Given the description of an element on the screen output the (x, y) to click on. 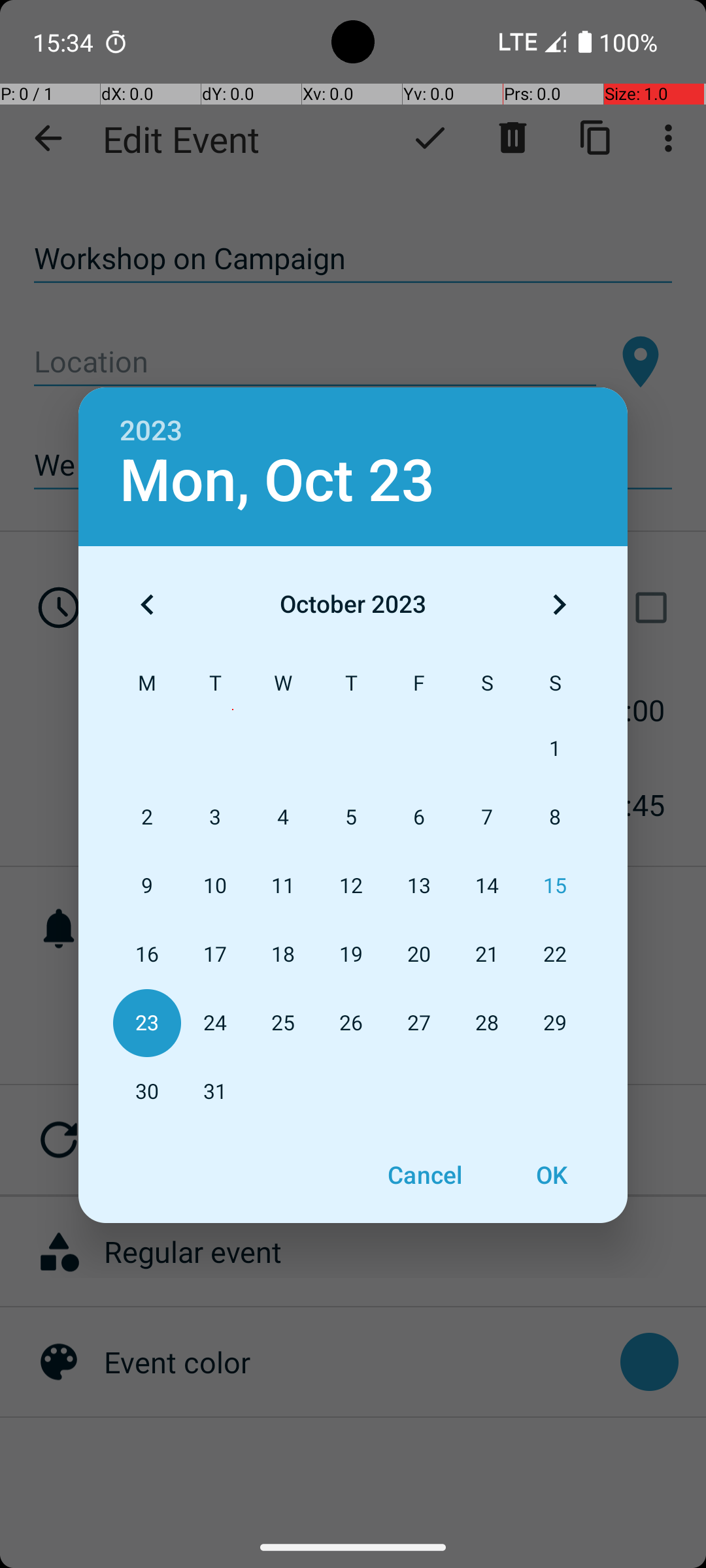
Mon, Oct 23 Element type: android.widget.TextView (276, 480)
